Given the description of an element on the screen output the (x, y) to click on. 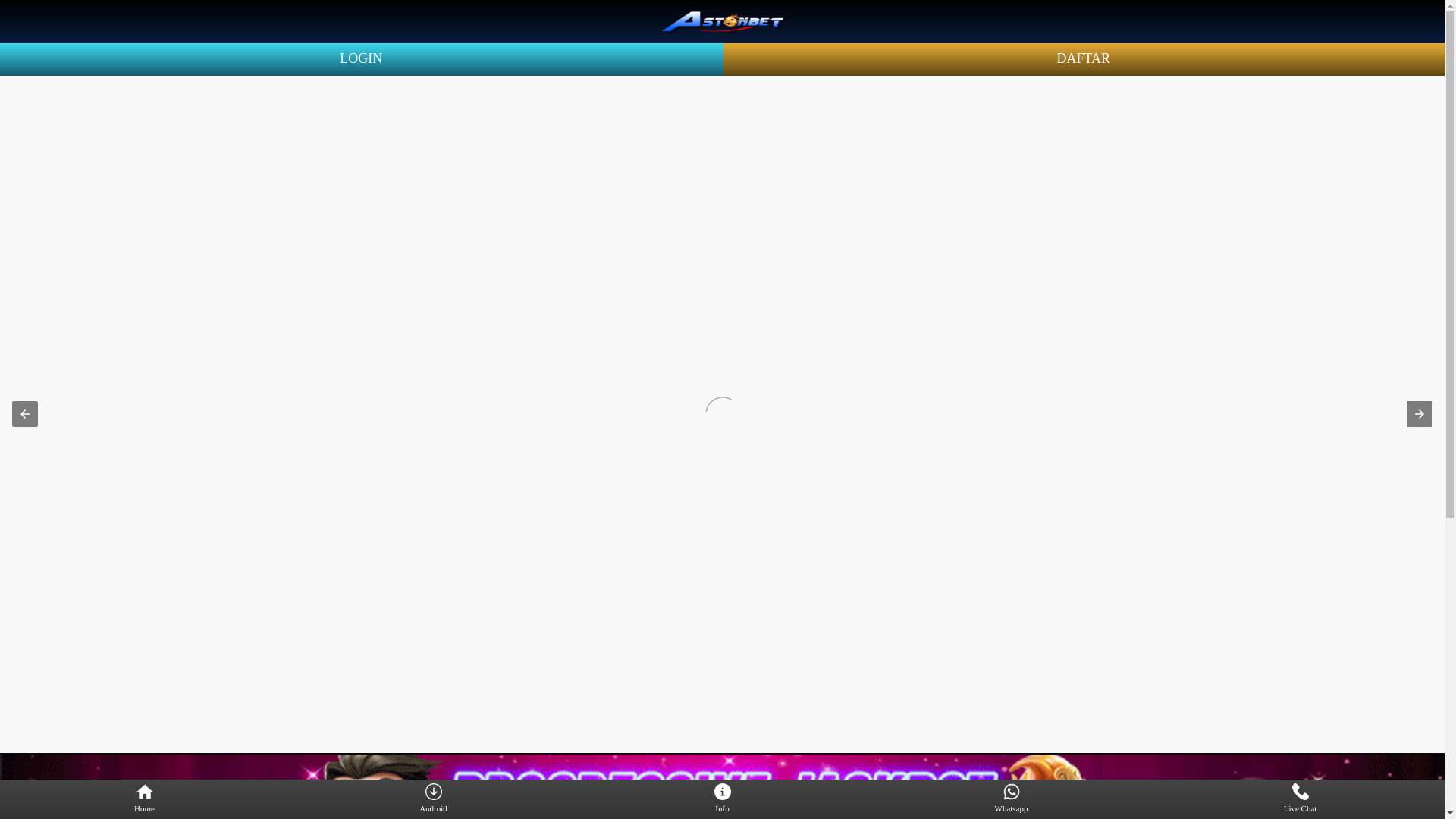
LOGIN Element type: text (361, 57)
DAFTAR Element type: text (1082, 57)
Next item in carousel (5 of 5) Element type: hover (1419, 413)
Previous item in carousel (3 of 5) Element type: hover (24, 413)
